Given the description of an element on the screen output the (x, y) to click on. 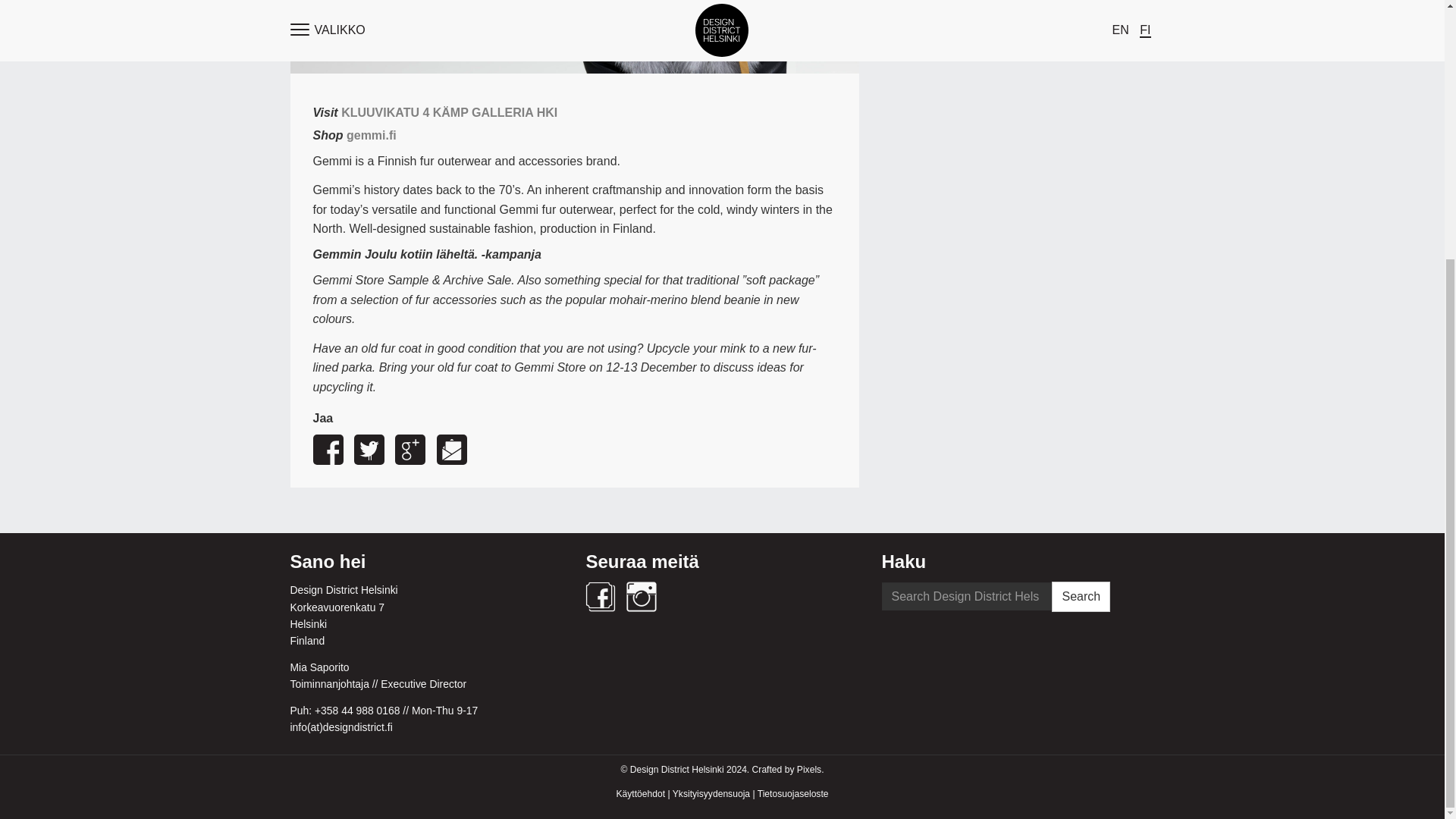
Search (1080, 596)
Yksityisyydensuoja (710, 793)
Tietosuojaseloste (792, 793)
Facebook (600, 596)
gemmi.fi (371, 134)
Pixels (808, 769)
Instagram (641, 596)
